Given the description of an element on the screen output the (x, y) to click on. 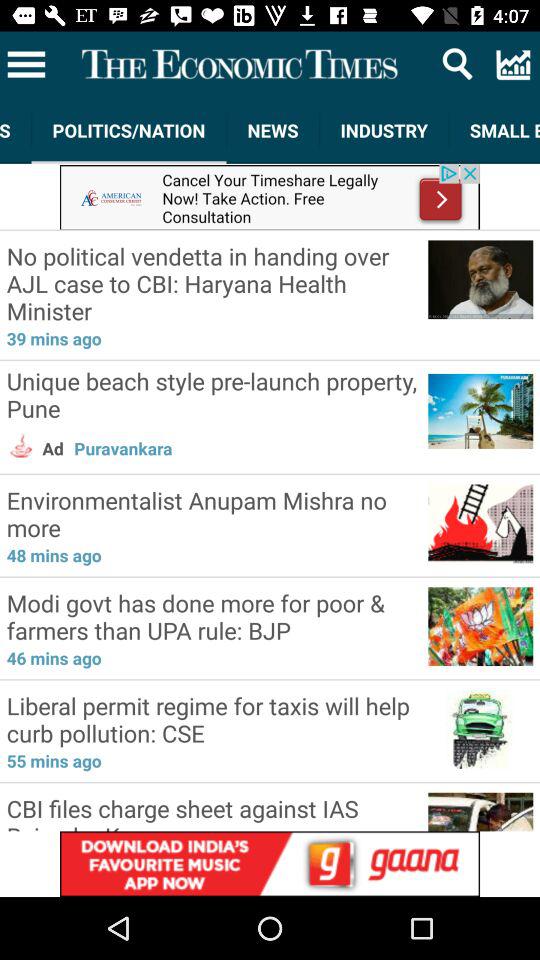
click on search icon (457, 63)
click on the title (240, 63)
select the fifth image from top (480, 623)
